Given the description of an element on the screen output the (x, y) to click on. 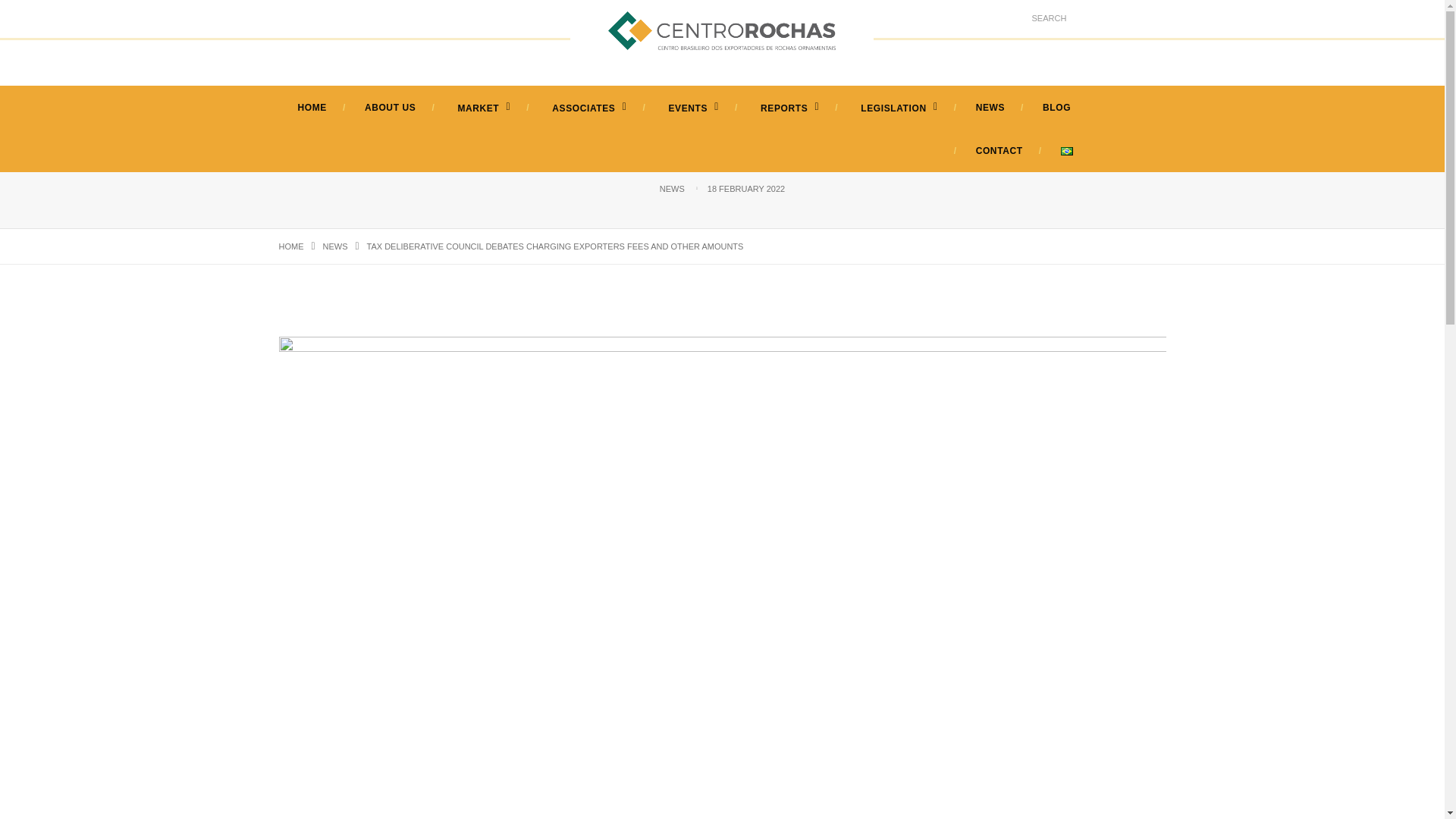
News (335, 245)
REPORTS (788, 108)
BLOG (1056, 107)
LEGISLATION (897, 108)
NEWS (335, 245)
ABOUT US (389, 107)
NEWS (989, 107)
ASSOCIATES (587, 108)
NEWS (671, 188)
HOME (312, 107)
EVENTS (691, 108)
Browse to: Home (291, 245)
CONTACT (999, 150)
HOME (291, 245)
MARKET (481, 108)
